Given the description of an element on the screen output the (x, y) to click on. 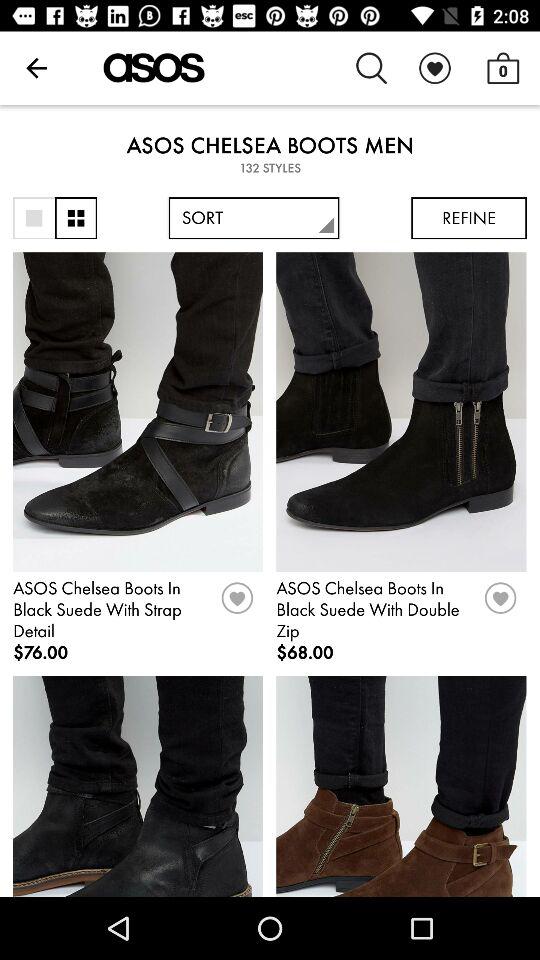
press the item below the 132 styles item (253, 218)
